Given the description of an element on the screen output the (x, y) to click on. 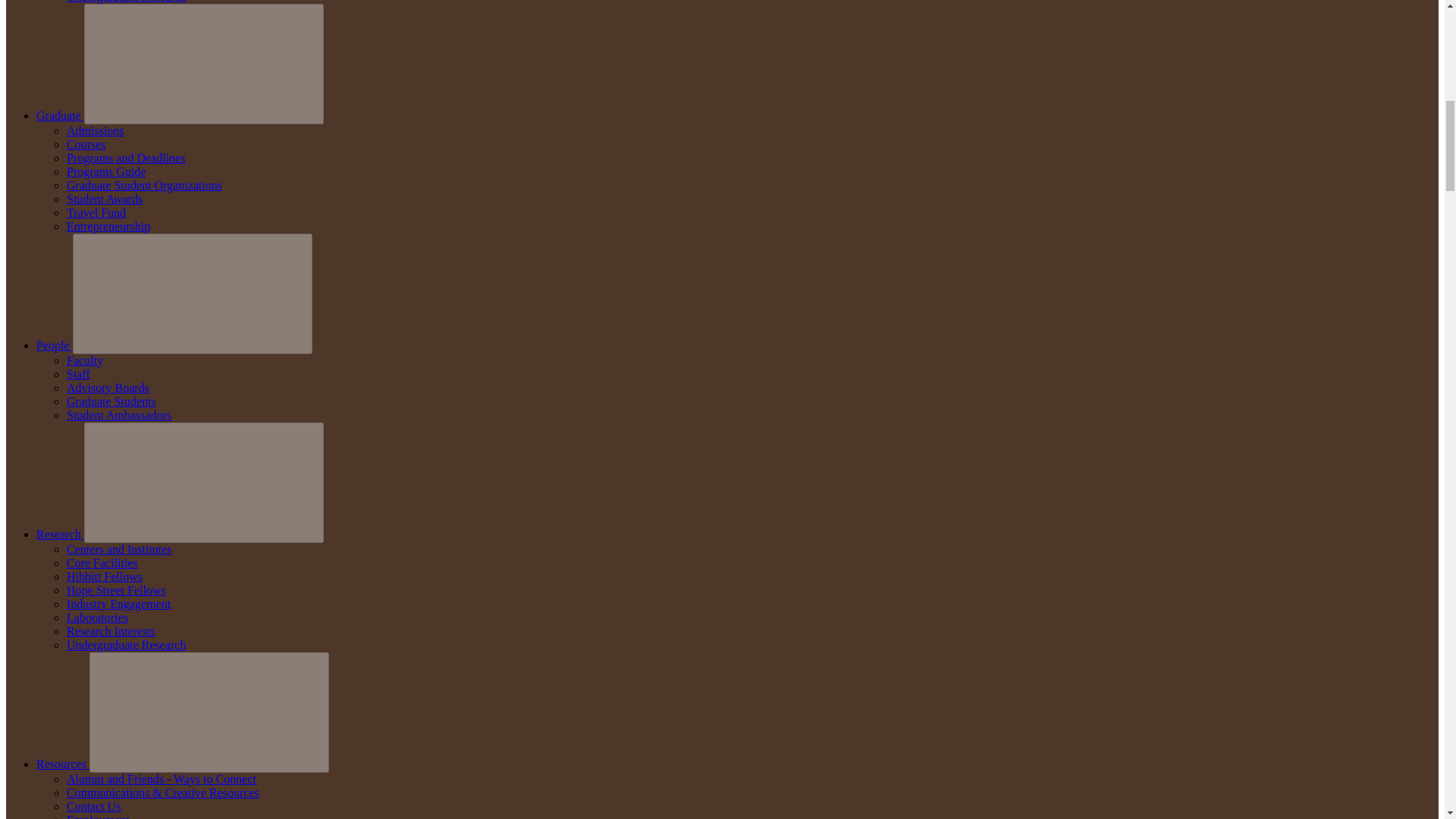
Graduate (60, 115)
Advisory Boards (107, 387)
Student Awards (104, 198)
Staff (78, 373)
Undergraduate Research (126, 1)
Graduate Student Organizations (144, 185)
Entrepreneurship (107, 226)
Faculty (84, 359)
People (54, 345)
Programs and Deadlines (125, 157)
Admissions (94, 130)
Programs Guide (105, 171)
Courses (86, 144)
Travel Fund (95, 212)
